Given the description of an element on the screen output the (x, y) to click on. 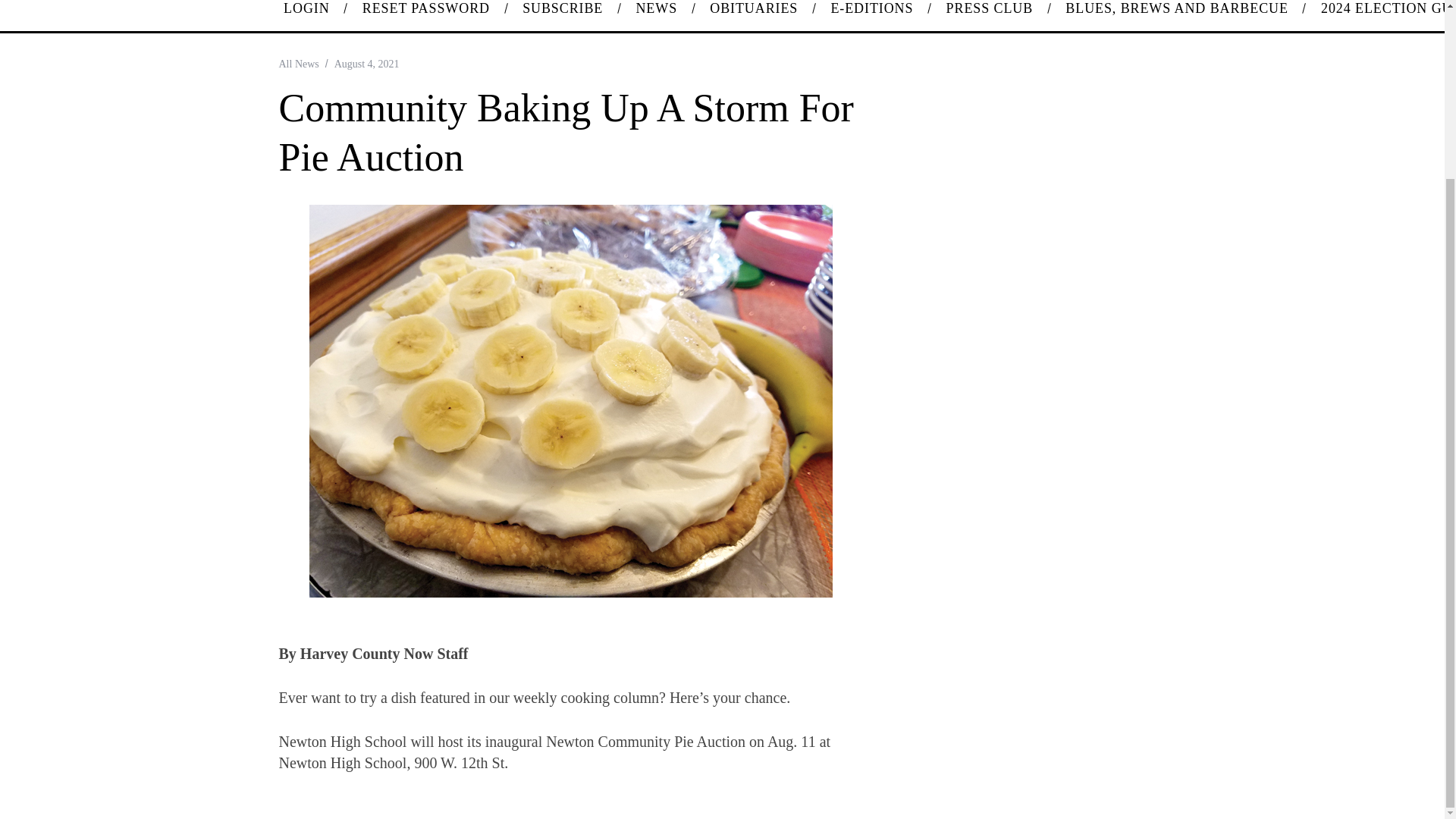
LOGIN (306, 15)
2024 ELECTION GUIDE (1380, 15)
PRESS CLUB (989, 15)
SUBSCRIBE (563, 15)
RESET PASSWORD (425, 15)
All News (298, 63)
OBITUARIES (753, 15)
E-EDITIONS (871, 15)
NEWS (657, 15)
BLUES, BREWS AND BARBECUE (1176, 15)
